Given the description of an element on the screen output the (x, y) to click on. 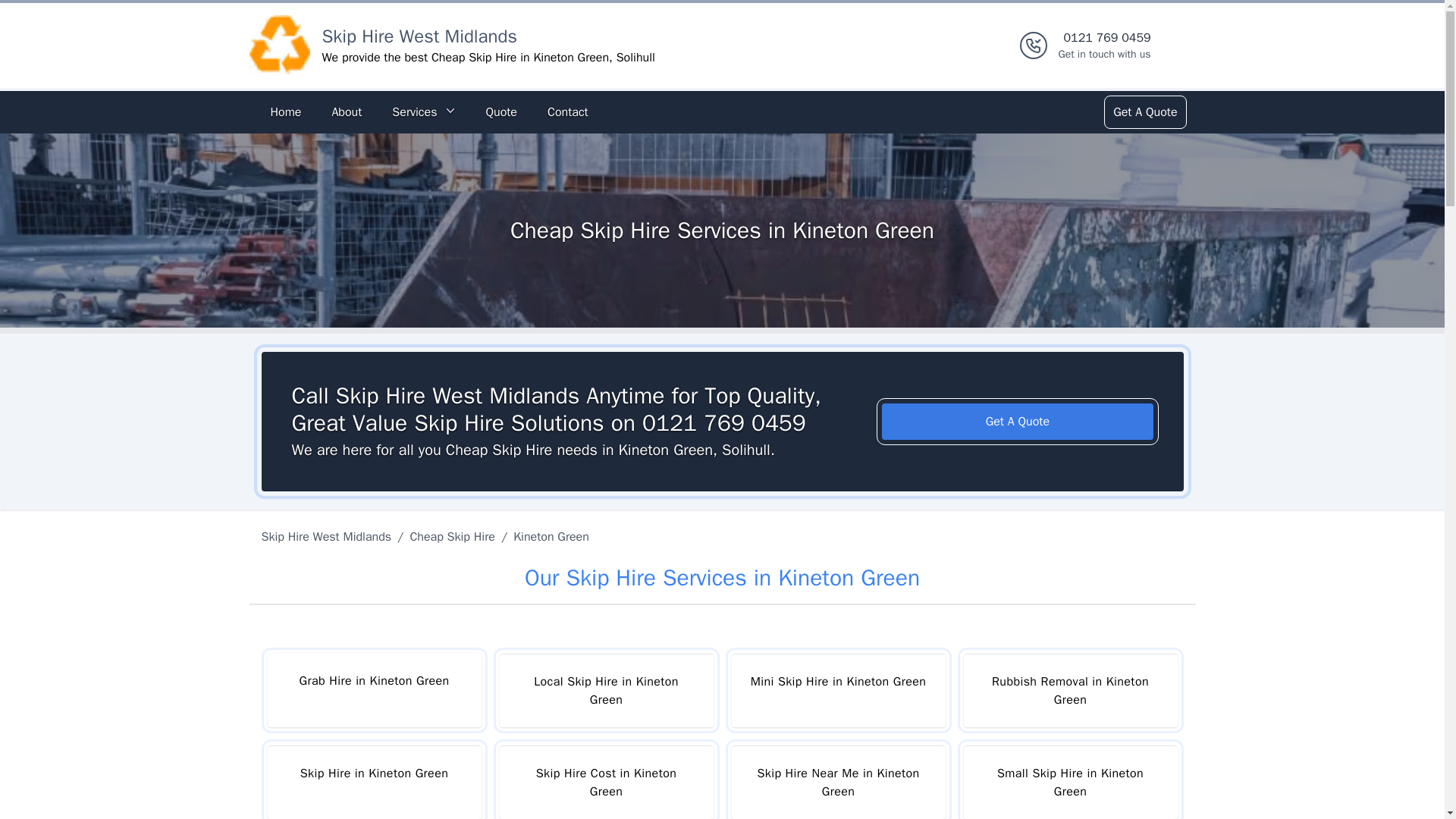
Skip Hire Near Me in Kineton Green (837, 782)
Small Skip Hire in Kineton Green (1069, 782)
Get A Quote (1017, 421)
Logo (278, 45)
Contact (567, 112)
Home (285, 112)
Grab Hire in Kineton Green (373, 690)
Skip Hire in Kineton Green (373, 782)
Services (423, 112)
Skip Hire Cost in Kineton Green (606, 782)
